Given the description of an element on the screen output the (x, y) to click on. 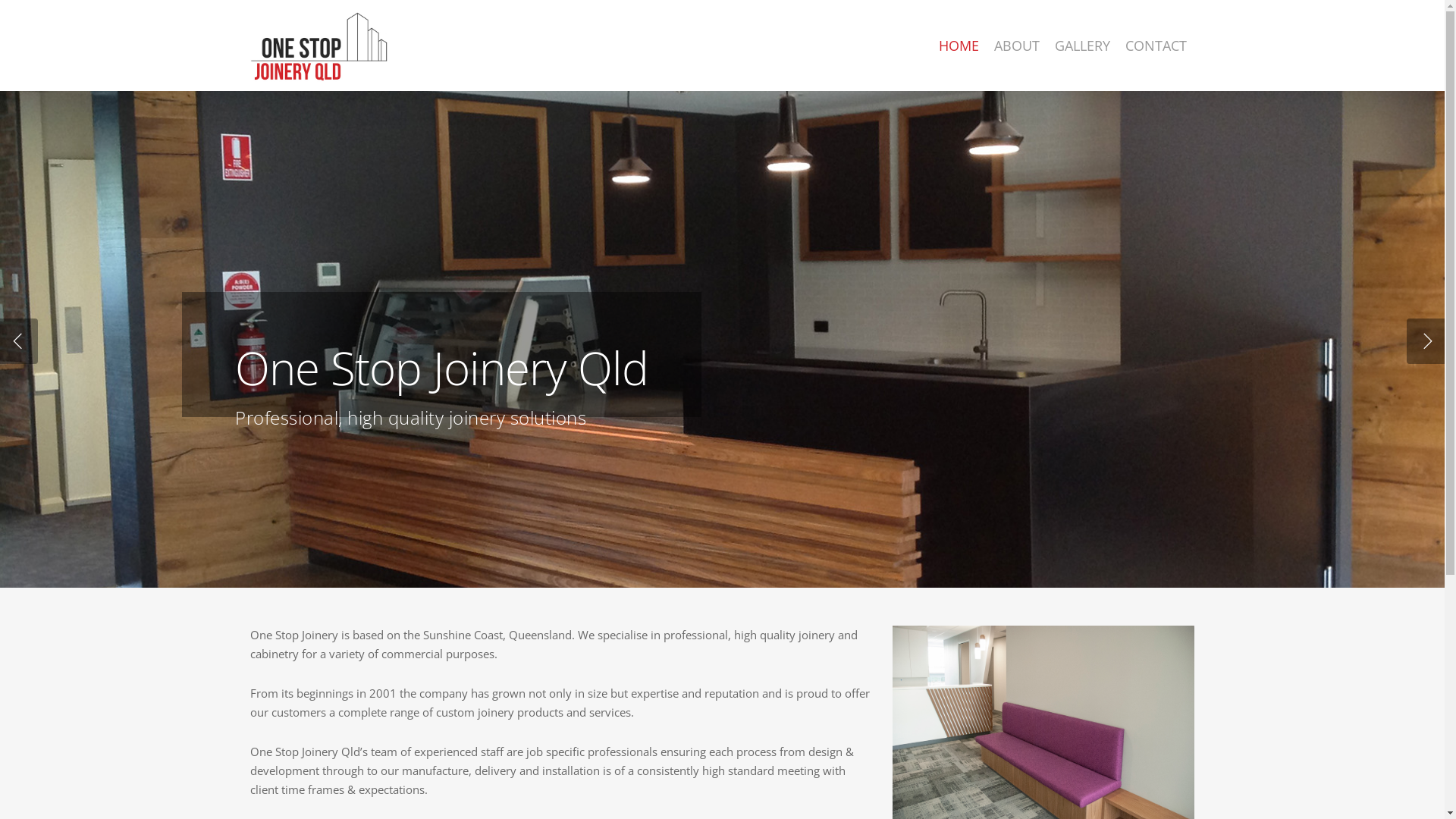
GALLERY Element type: text (1082, 45)
ABOUT Element type: text (1016, 45)
CONTACT Element type: text (1155, 45)
HOME Element type: text (958, 45)
